Given the description of an element on the screen output the (x, y) to click on. 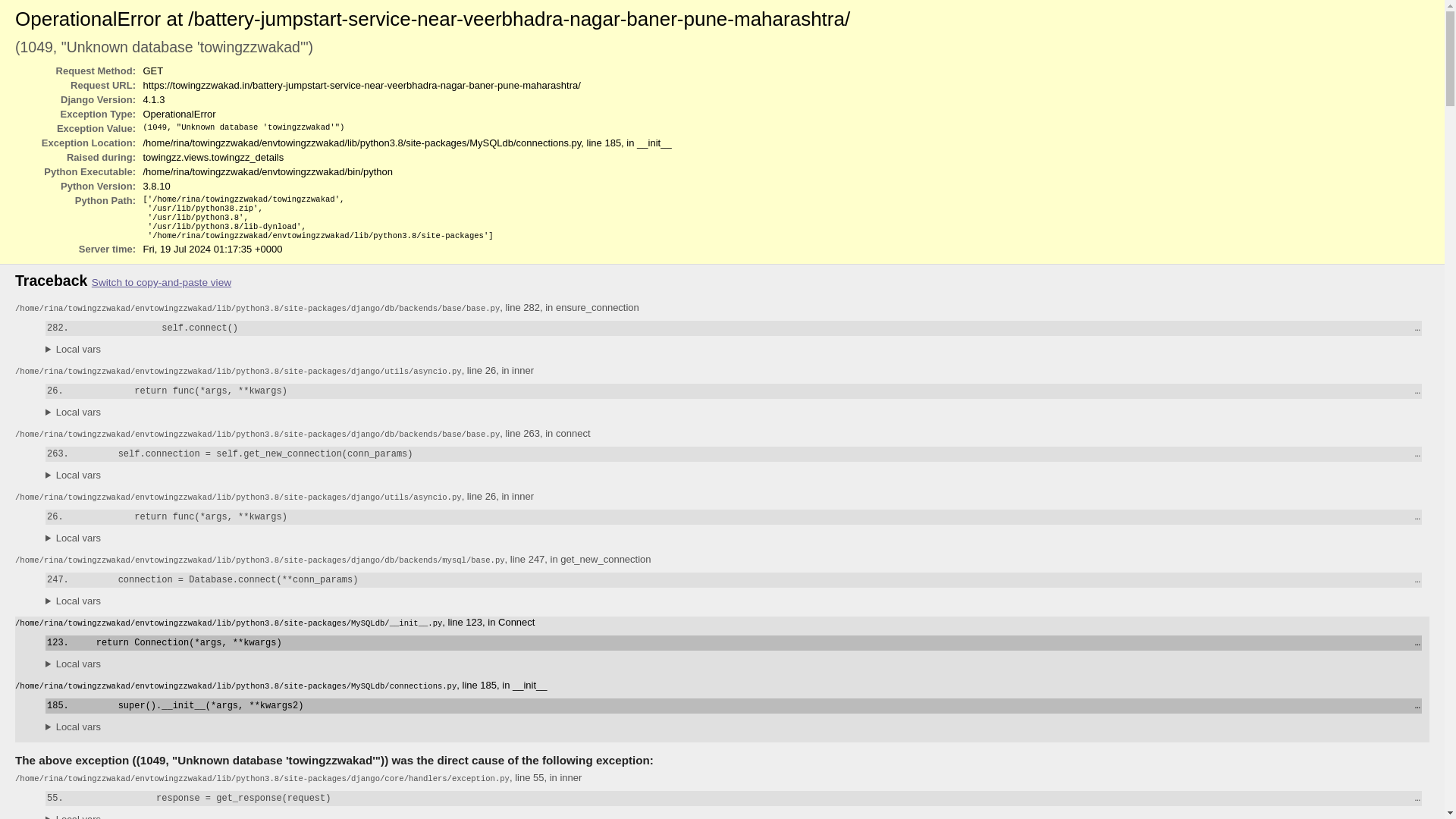
Switch to copy-and-paste view (161, 282)
